Given the description of an element on the screen output the (x, y) to click on. 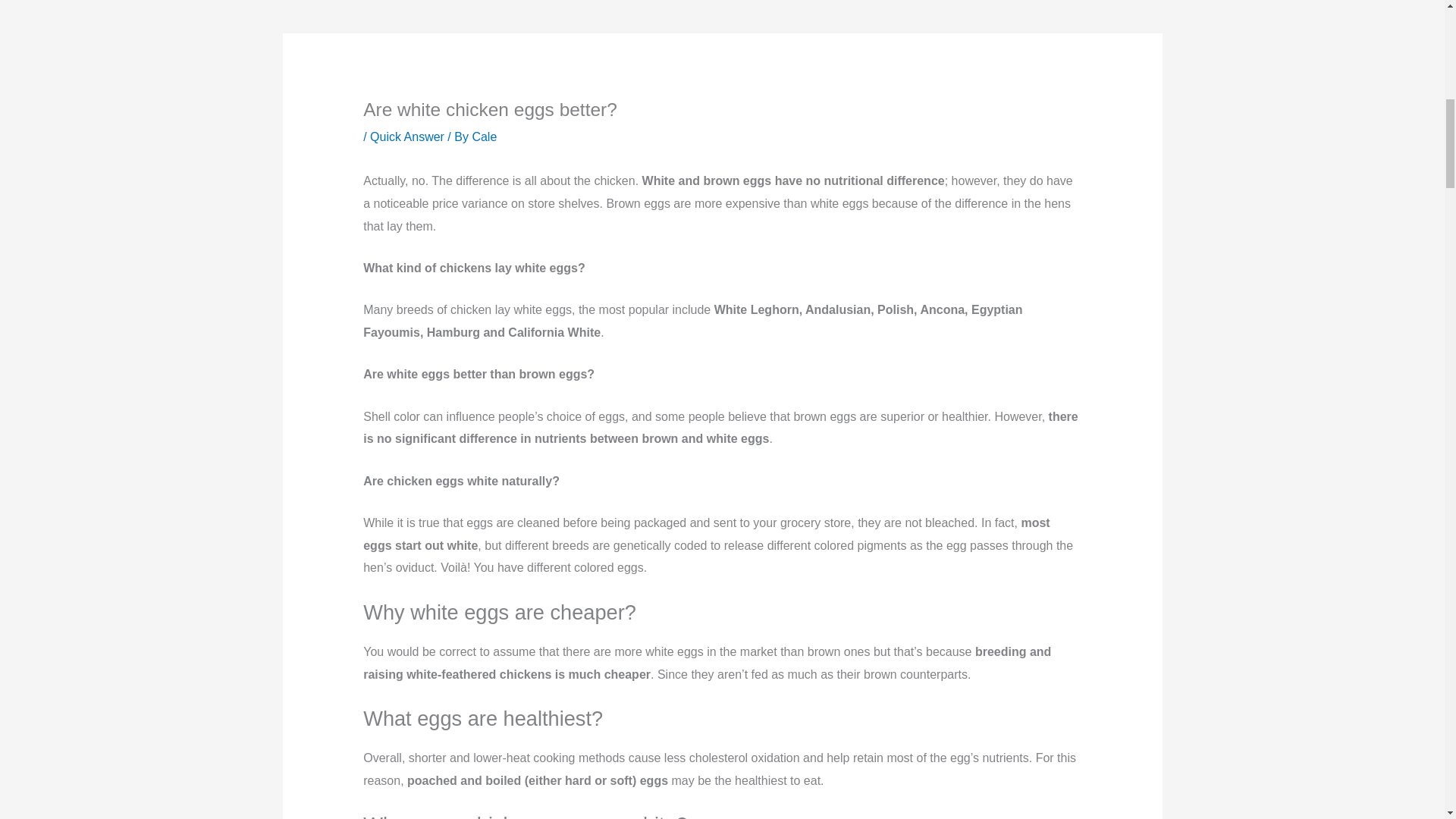
View all posts by Cale (483, 136)
Quick Answer (406, 136)
Cale (483, 136)
